Given the description of an element on the screen output the (x, y) to click on. 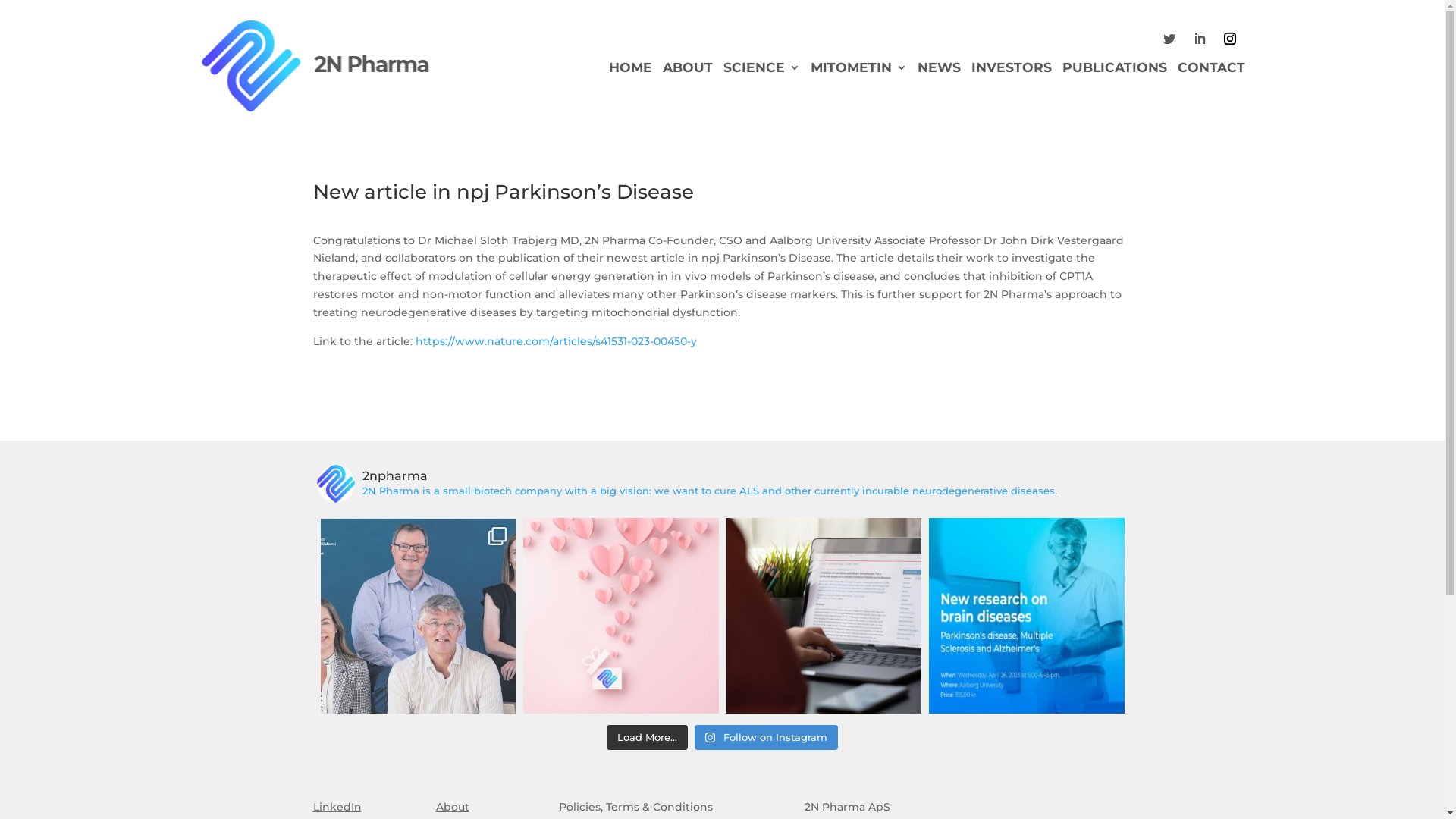
Follow on Twitter Element type: hover (1169, 38)
Follow on LinkedIn Element type: hover (1199, 38)
LinkedIn Element type: text (336, 806)
ABOUT Element type: text (687, 70)
2nLogo Element type: hover (315, 65)
About Element type: text (451, 806)
PUBLICATIONS Element type: text (1114, 70)
Load More... Element type: text (646, 737)
https://www.nature.com/articles/s41531-023-00450-y Element type: text (555, 341)
CONTACT Element type: text (1211, 70)
Follow on Instagram Element type: hover (1229, 38)
NEWS Element type: text (938, 70)
HOME Element type: text (630, 70)
SCIENCE Element type: text (761, 70)
MITOMETIN Element type: text (858, 70)
INVESTORS Element type: text (1011, 70)
Follow on Instagram Element type: text (765, 737)
